Given the description of an element on the screen output the (x, y) to click on. 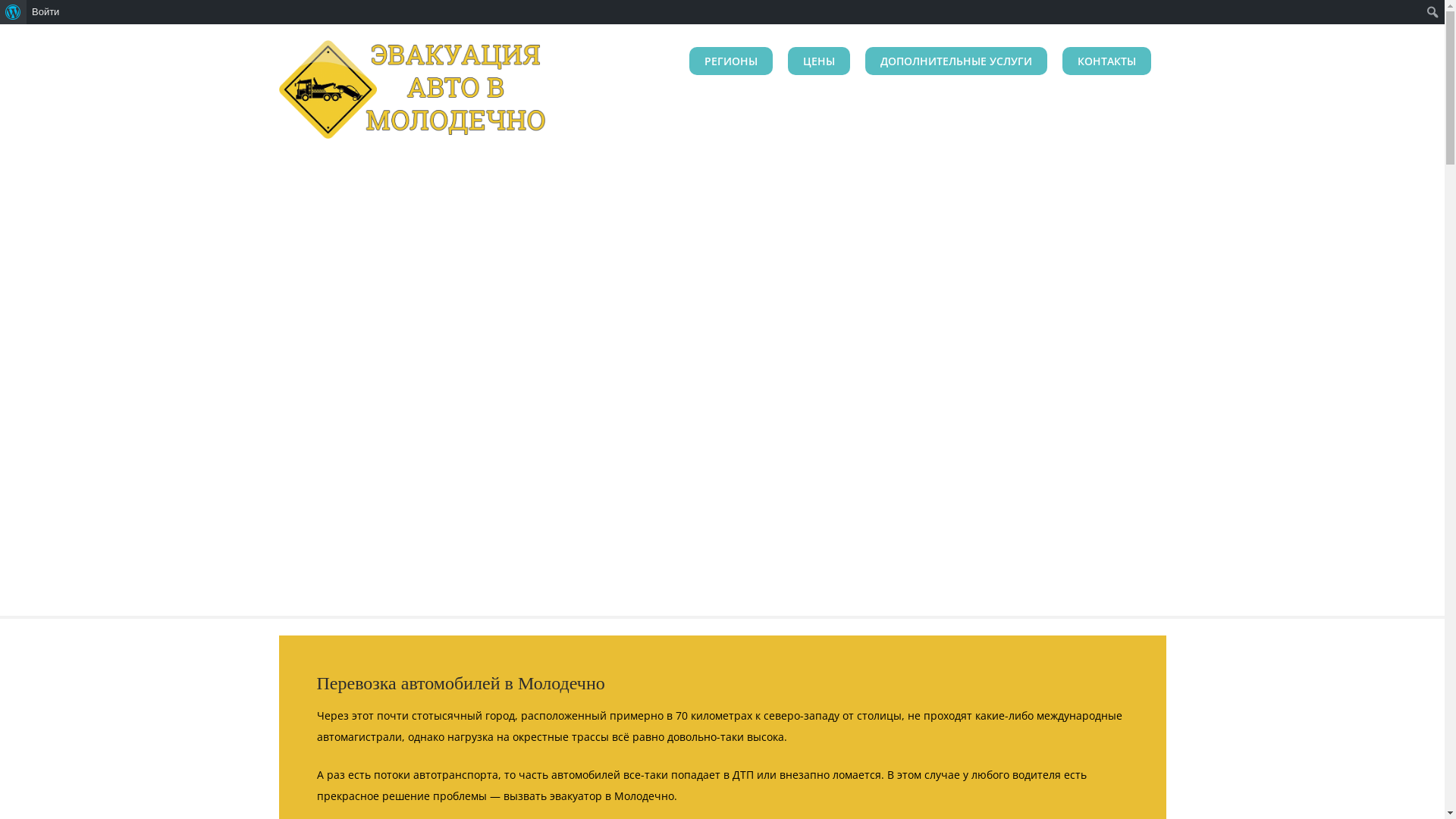
Telegram Element type: hover (651, 270)
+375-29-559-52-05 Element type: text (466, 271)
+375-29-670-68-60 Element type: text (466, 312)
